Given the description of an element on the screen output the (x, y) to click on. 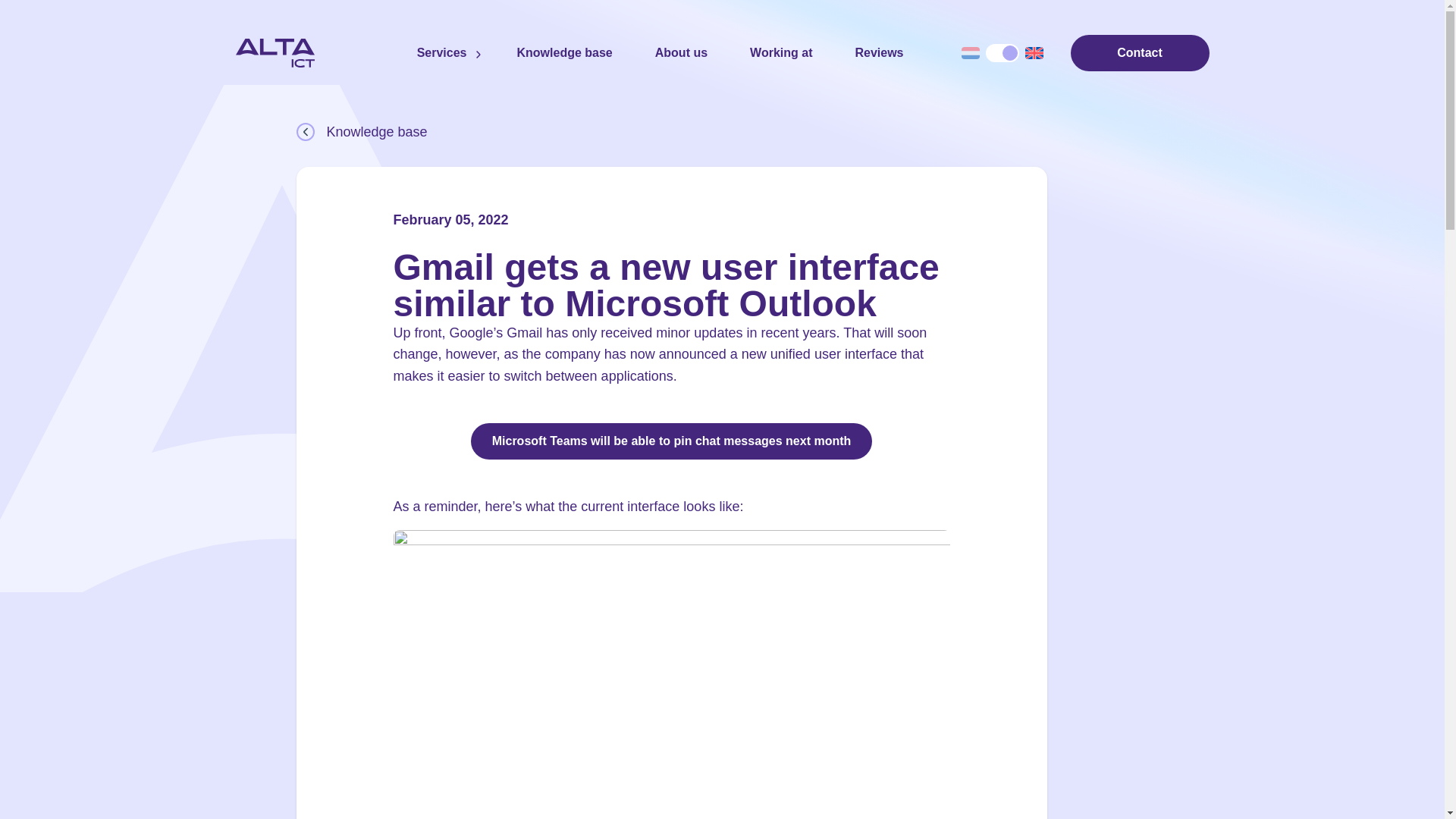
Contact (1139, 53)
Services (441, 53)
Knowledge base (721, 131)
Knowledge base (564, 53)
Working at (781, 53)
Reviews (878, 53)
Microsoft Teams will be able to pin chat messages next month (671, 441)
About us (681, 53)
